Given the description of an element on the screen output the (x, y) to click on. 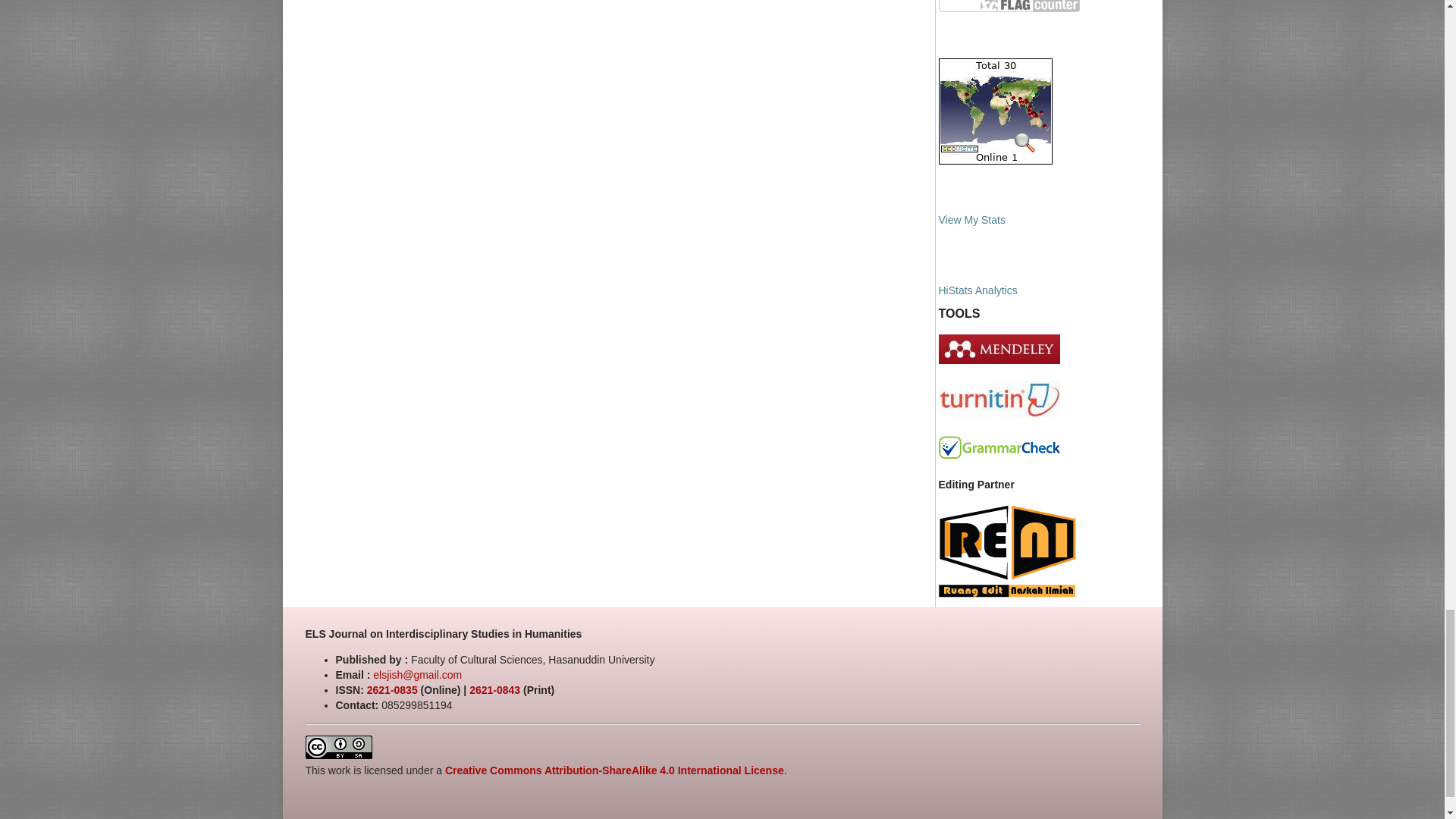
turnitin (999, 415)
Mendeley (999, 359)
Grammar Check (999, 454)
